Given the description of an element on the screen output the (x, y) to click on. 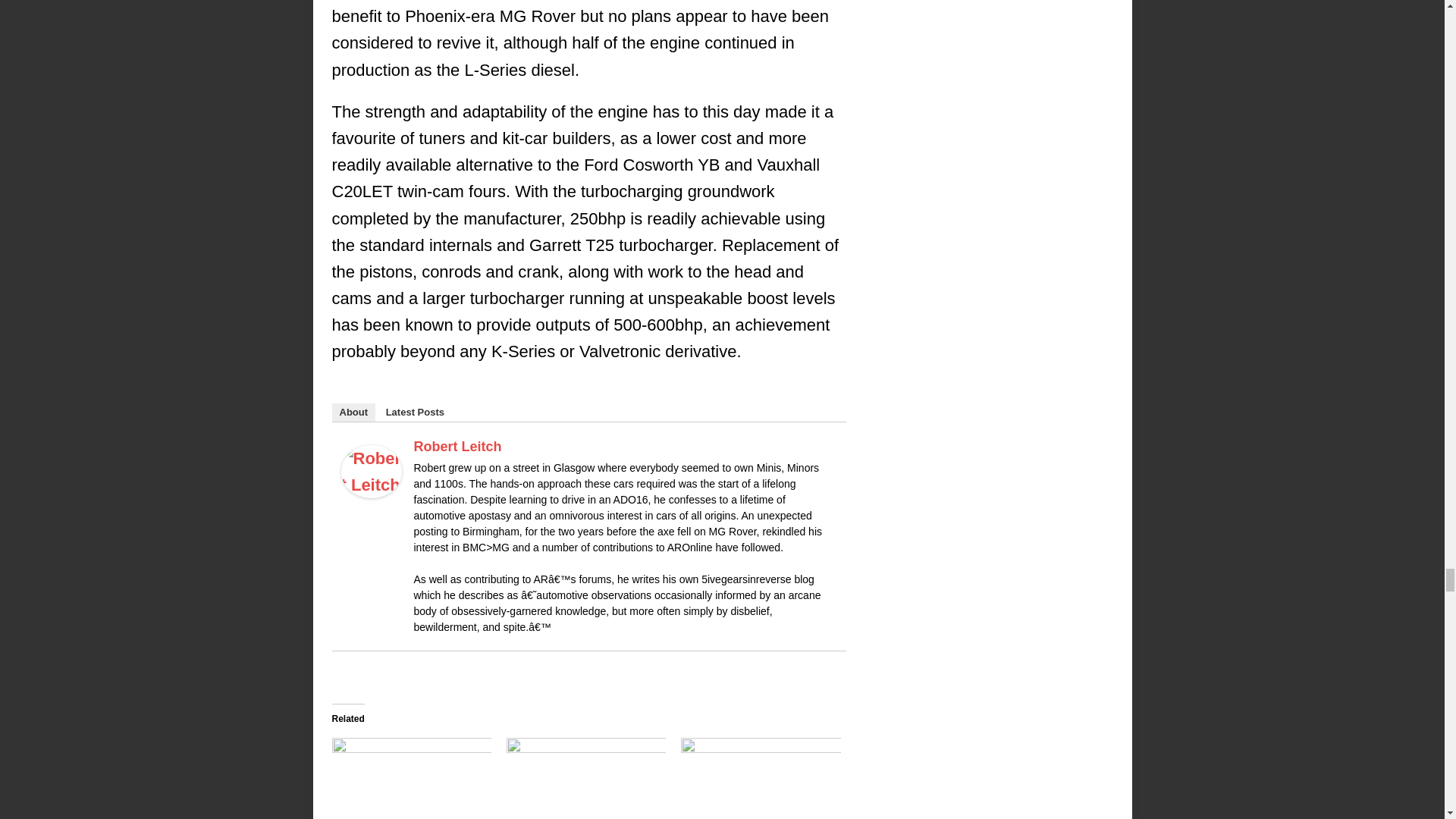
Raise a glass to : 30 years of the Rover 800 Vitesse Sport (585, 776)
Raise a glass to : 25 years of the Rover 600 (411, 776)
Robert Leitch (370, 484)
